Given the description of an element on the screen output the (x, y) to click on. 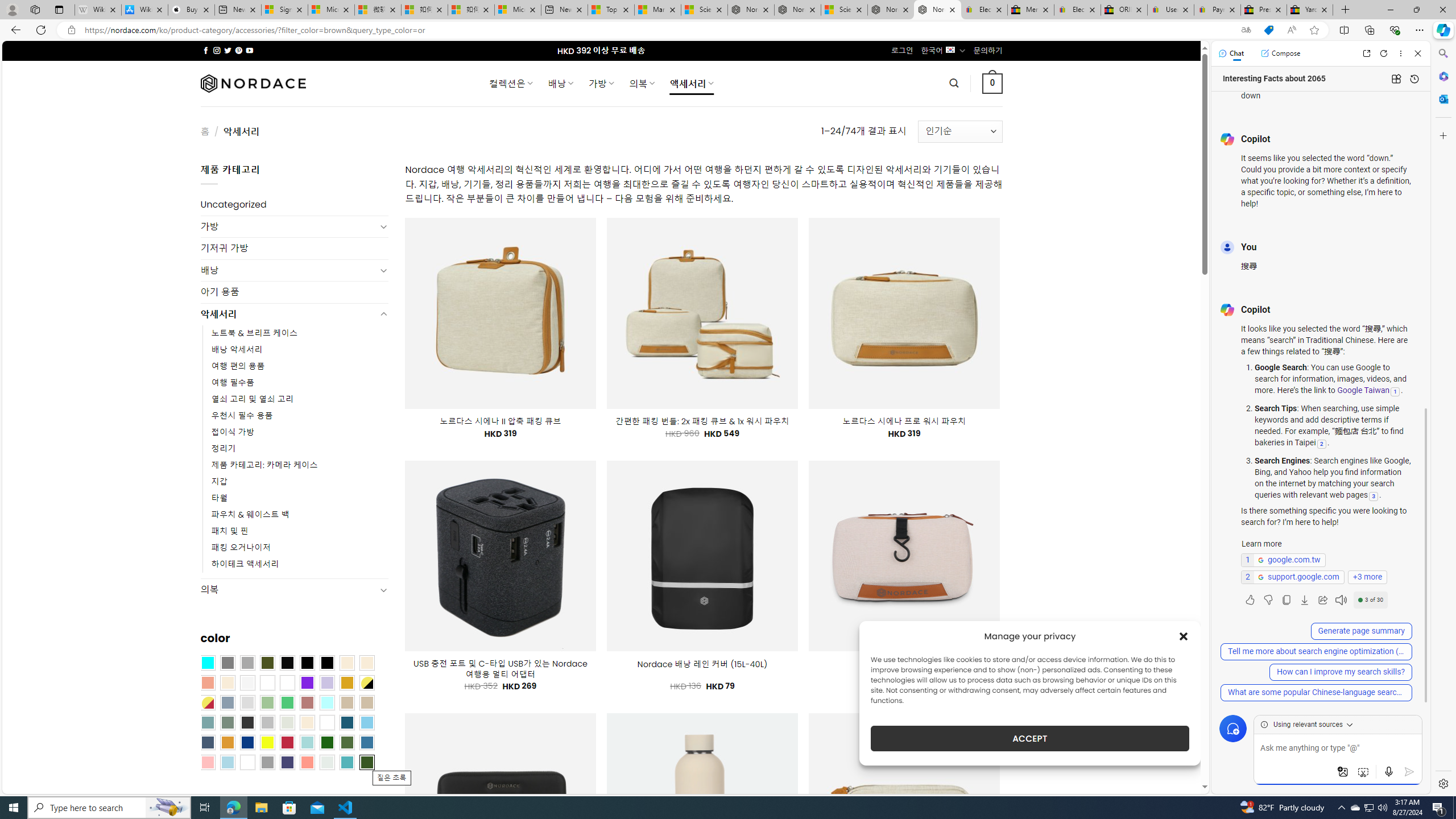
Nordace - Summer Adventures 2024 (890, 9)
Show translate options (1245, 29)
Coral (207, 681)
Uncategorized (294, 204)
Payments Terms of Use | eBay.com (1216, 9)
